Given the description of an element on the screen output the (x, y) to click on. 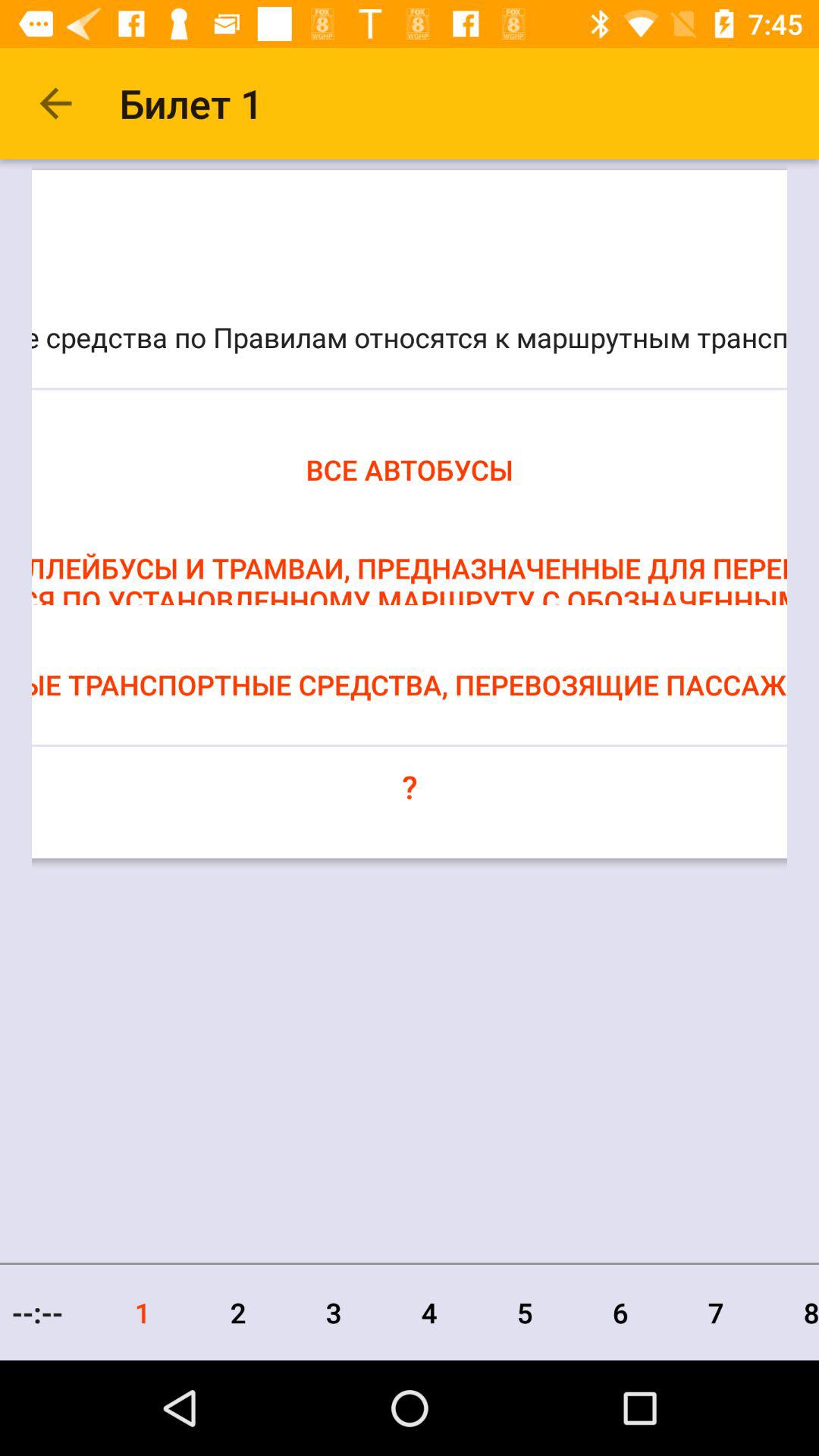
choose the item next to the 7 icon (791, 1312)
